Given the description of an element on the screen output the (x, y) to click on. 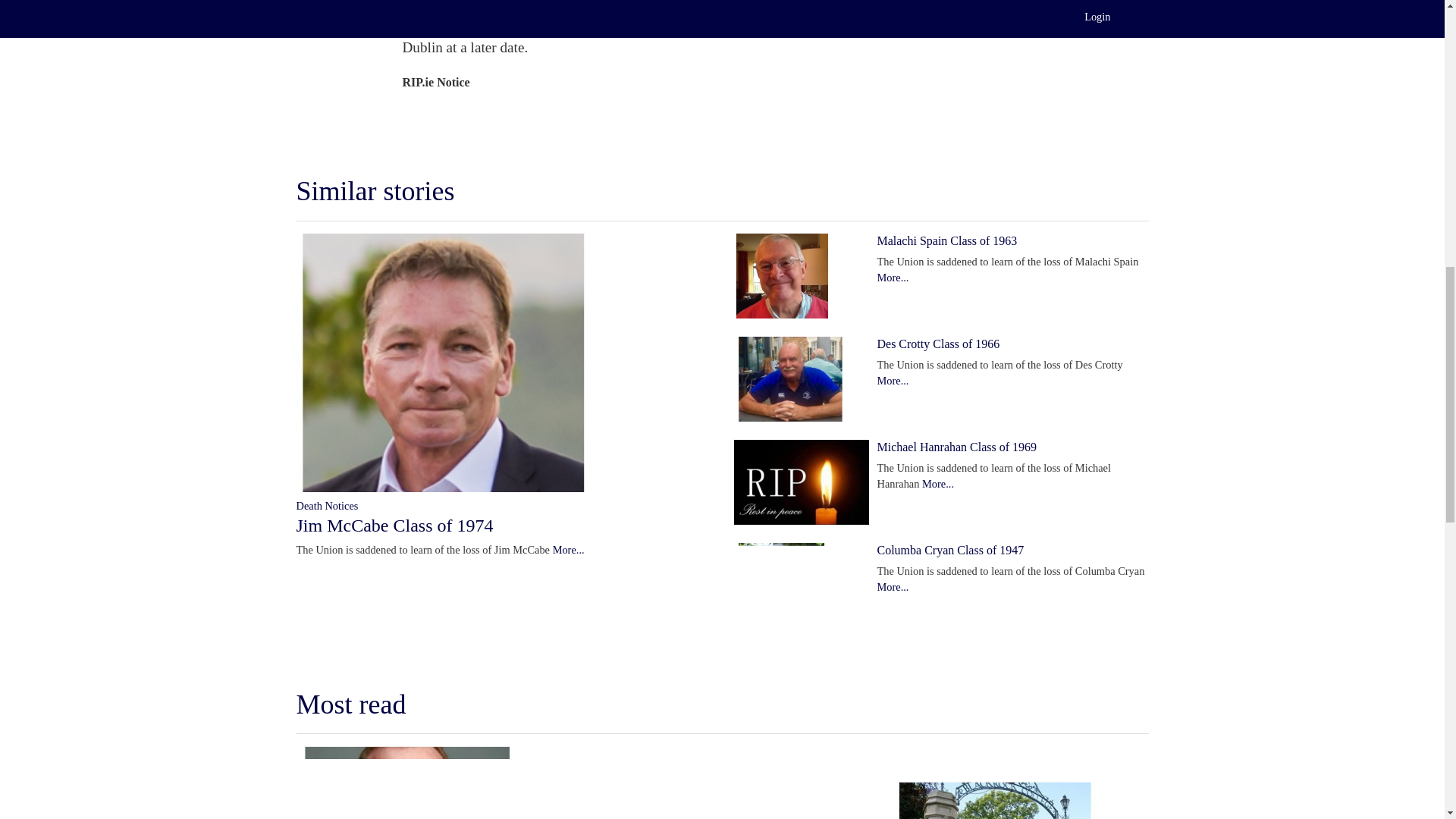
RIP.ie Notice (434, 82)
Death Notices (326, 505)
